Given the description of an element on the screen output the (x, y) to click on. 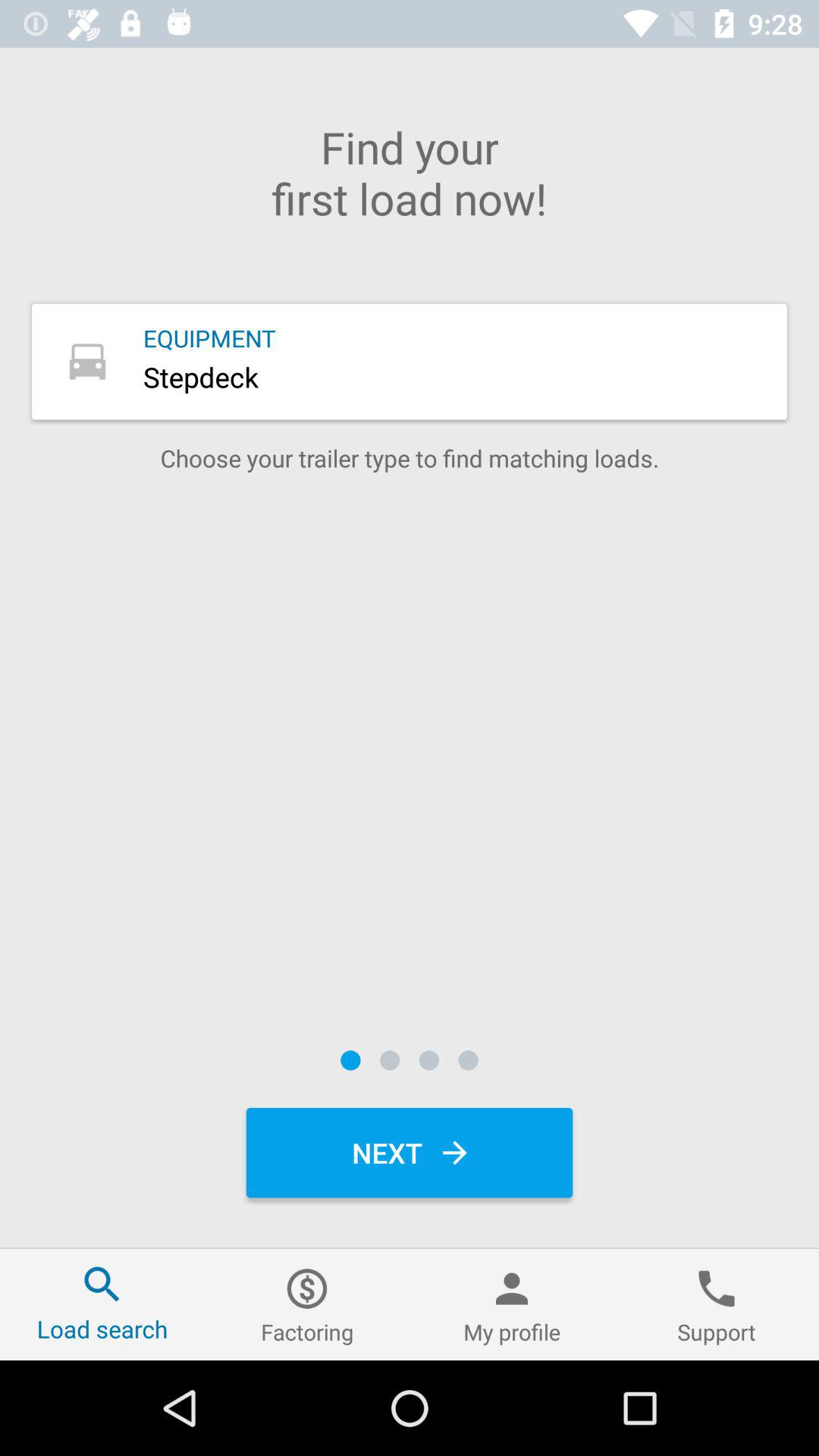
click on next (409, 1152)
click on equipment button (409, 361)
click on the left of my profile (306, 1304)
